Given the description of an element on the screen output the (x, y) to click on. 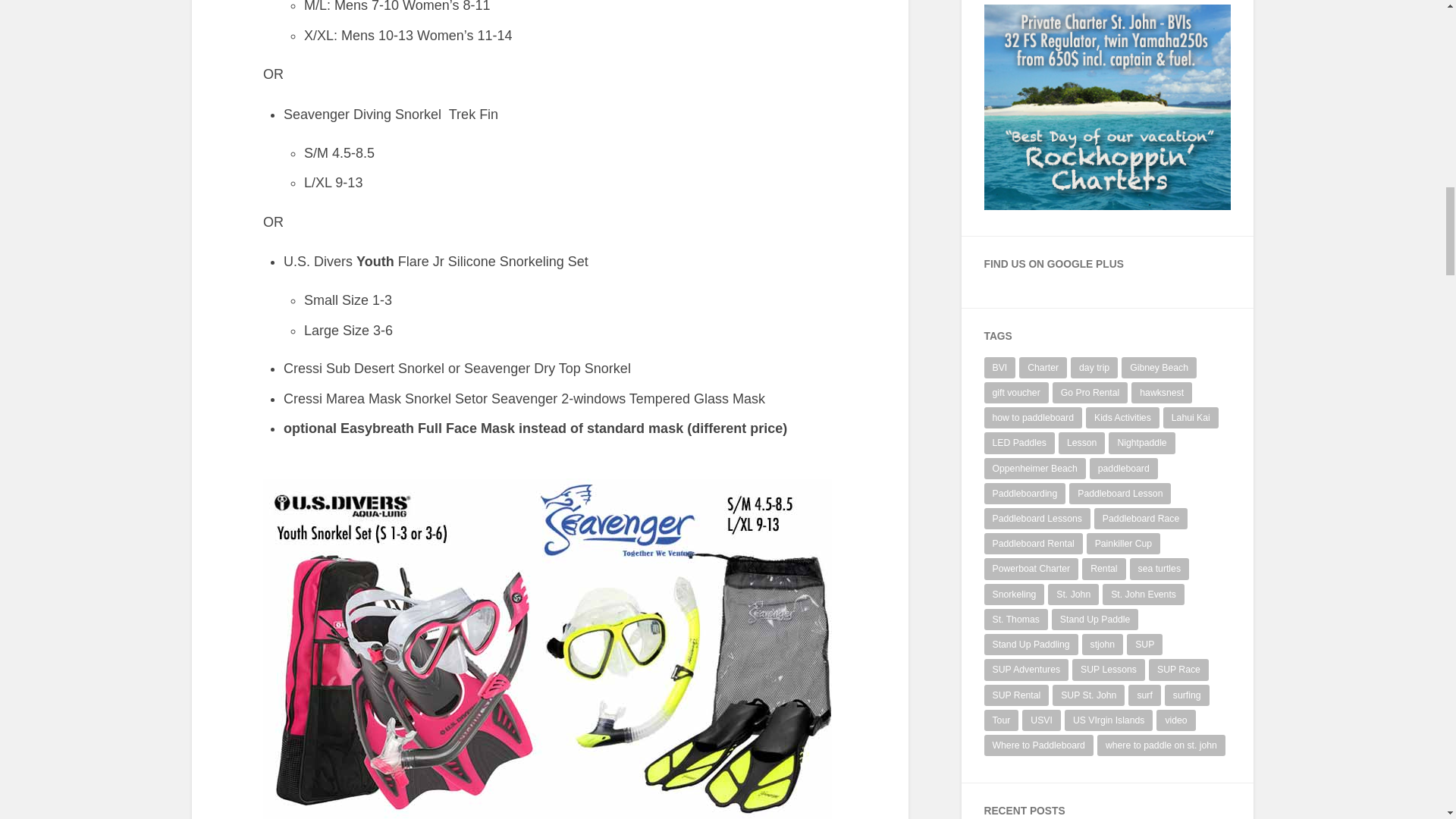
Rockhoppin Charters Powerboat Charter St. John (1107, 205)
